Given the description of an element on the screen output the (x, y) to click on. 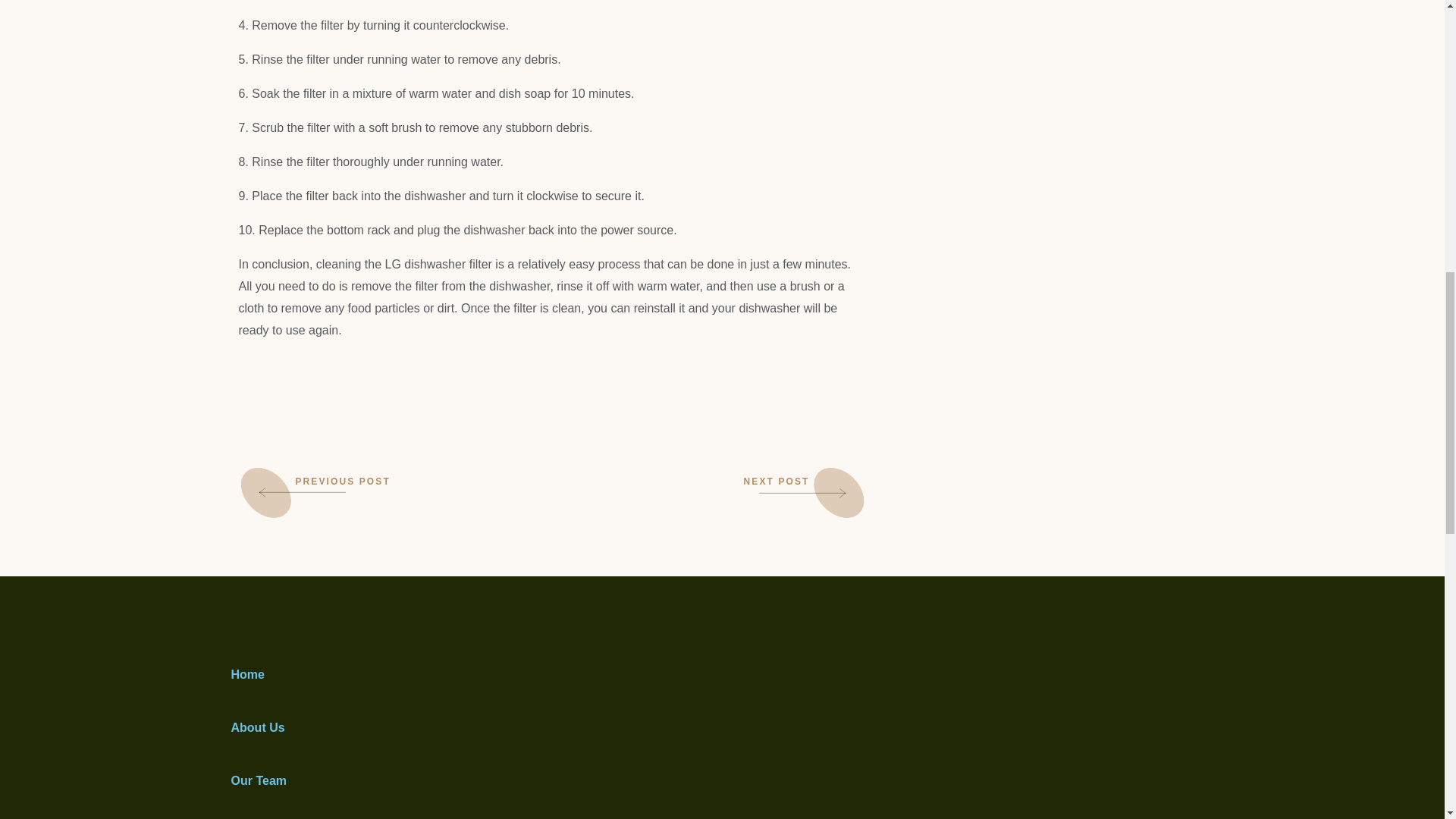
Our Team (258, 780)
About Us (256, 727)
Home (246, 674)
Advertisement (1061, 11)
